Given the description of an element on the screen output the (x, y) to click on. 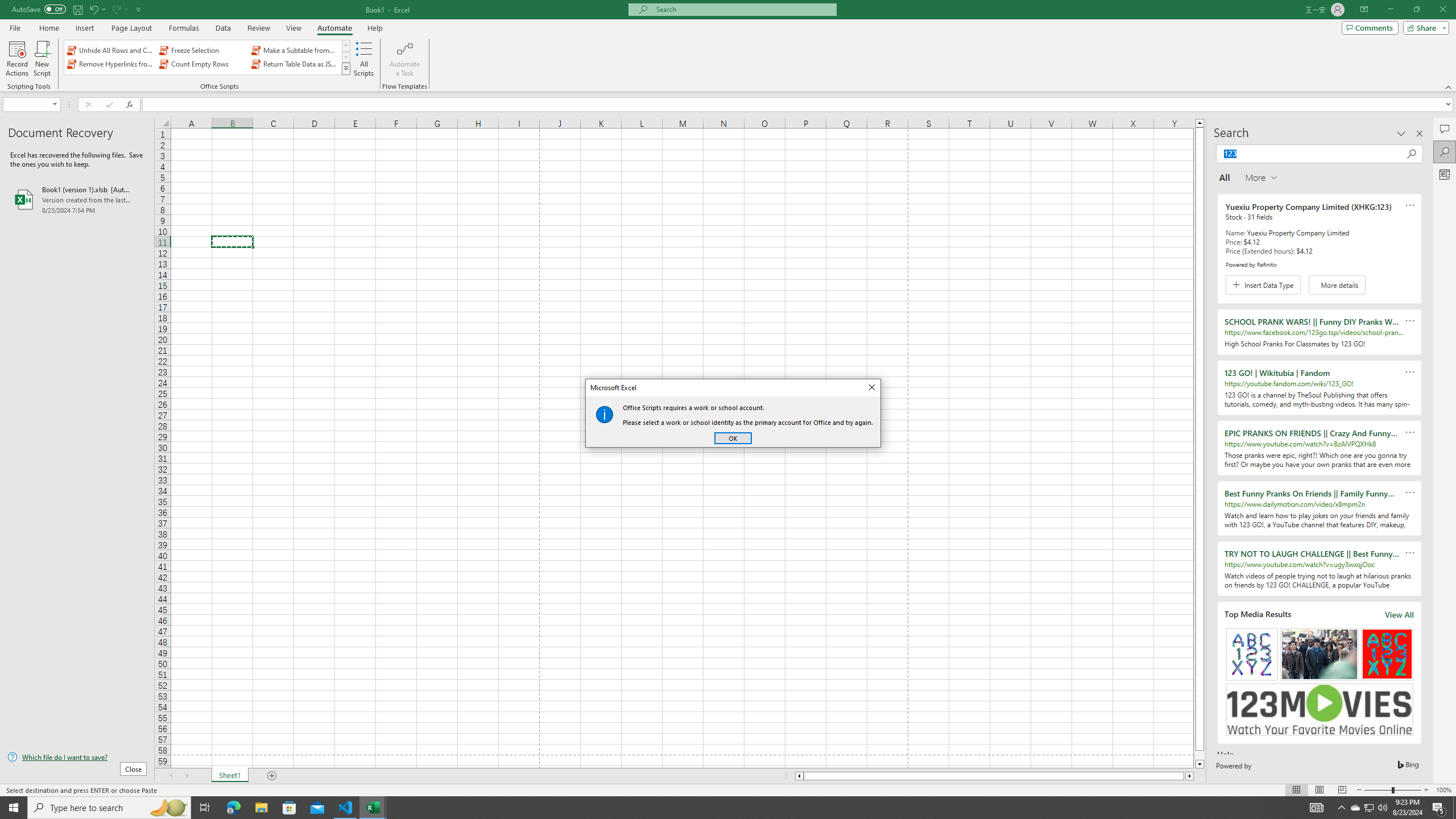
Comments (1369, 27)
Visual Studio Code - 1 running window (345, 807)
Quick Access Toolbar (77, 9)
Make a Subtable from a Selection (294, 50)
Collapse the Ribbon (1448, 86)
Microsoft Edge (233, 807)
Row up (346, 45)
Show desktop (1454, 807)
Return Table Data as JSON (294, 64)
Scroll Right (187, 775)
Office Scripts (1355, 807)
